Given the description of an element on the screen output the (x, y) to click on. 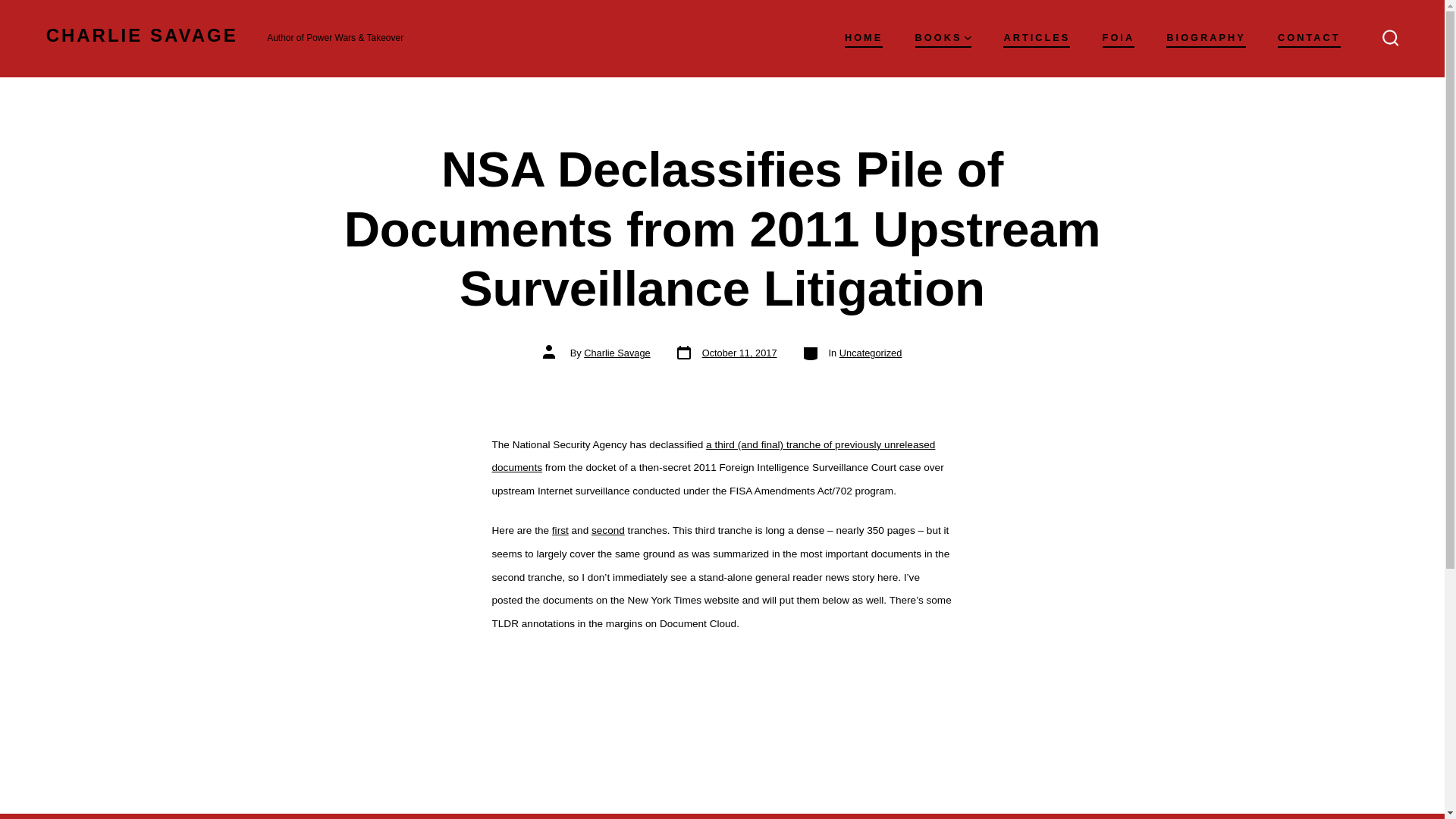
Uncategorized (871, 352)
Charlie Savage (616, 352)
CHARLIE SAVAGE (142, 37)
BIOGRAPHY (1206, 38)
BOOKS (726, 353)
FOIA (942, 38)
CONTACT (1118, 38)
HOME (1309, 38)
ARTICLES (863, 38)
first (1036, 38)
second (560, 530)
SEARCH TOGGLE (607, 530)
